Given the description of an element on the screen output the (x, y) to click on. 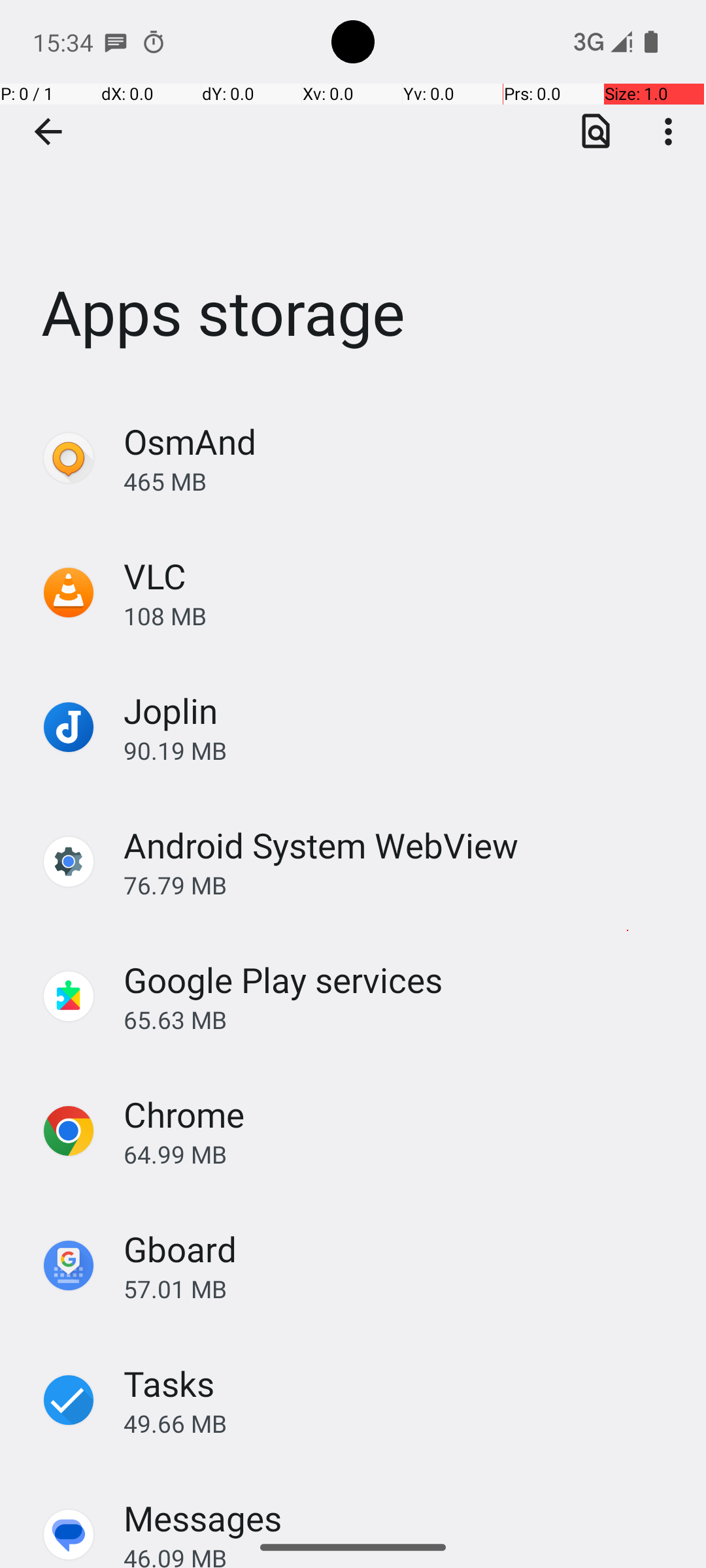
Apps storage Element type: android.widget.FrameLayout (353, 195)
465 MB Element type: android.widget.TextView (400, 480)
108 MB Element type: android.widget.TextView (400, 615)
90.19 MB Element type: android.widget.TextView (400, 750)
76.79 MB Element type: android.widget.TextView (400, 884)
65.63 MB Element type: android.widget.TextView (400, 1019)
64.99 MB Element type: android.widget.TextView (400, 1153)
Gboard Element type: android.widget.TextView (179, 1248)
57.01 MB Element type: android.widget.TextView (400, 1288)
49.66 MB Element type: android.widget.TextView (400, 1422)
